Given the description of an element on the screen output the (x, y) to click on. 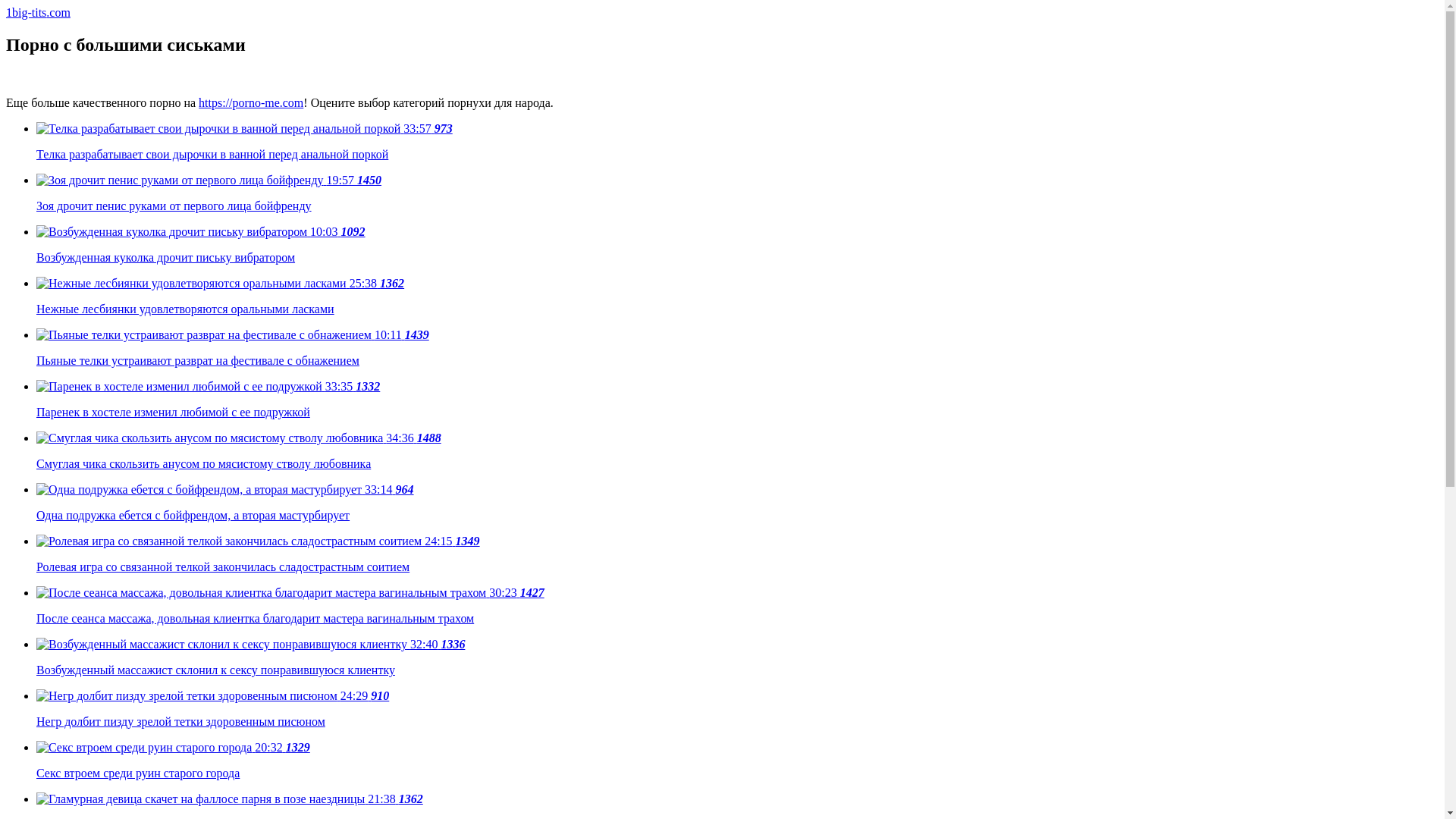
1big-tits.com Element type: text (38, 12)
https://porno-me.com Element type: text (250, 102)
